Given the description of an element on the screen output the (x, y) to click on. 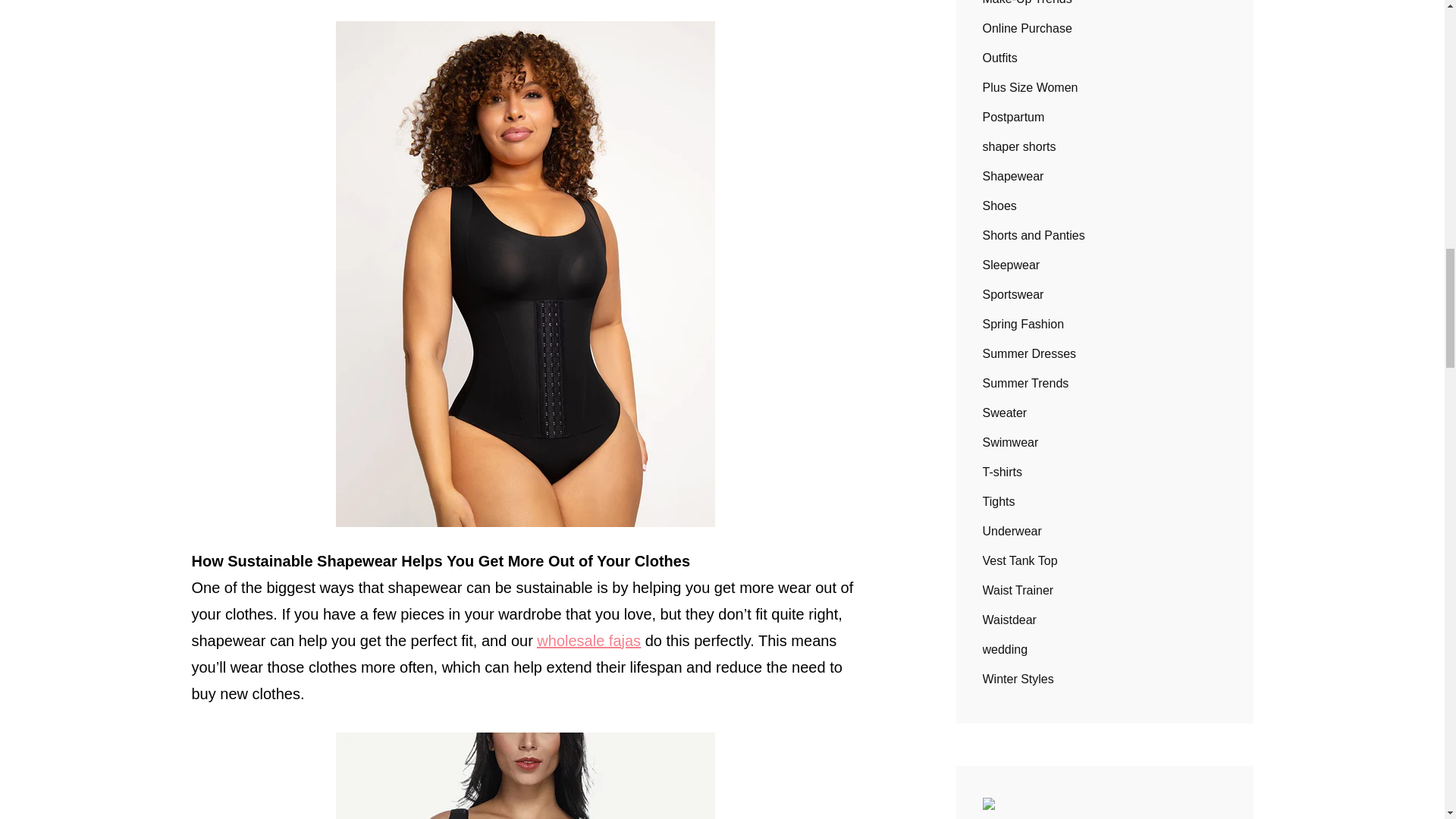
wholesale fajas (588, 640)
